Given the description of an element on the screen output the (x, y) to click on. 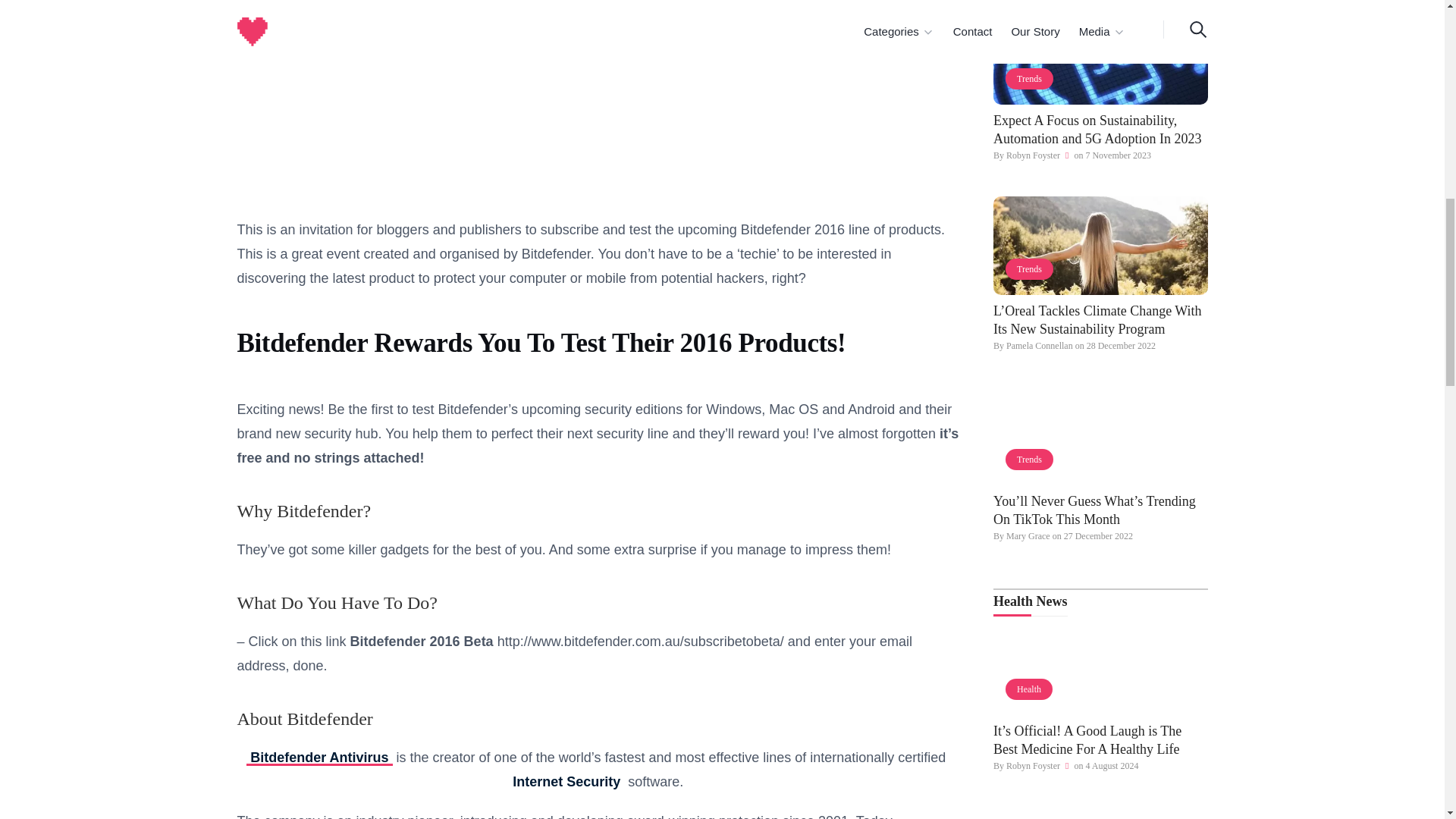
Bitdefender Antivirus (318, 757)
smiling-old-man-in-monochrome (1100, 665)
woman in field (1100, 245)
Internet Security (730, 769)
TikTok (1100, 435)
